Given the description of an element on the screen output the (x, y) to click on. 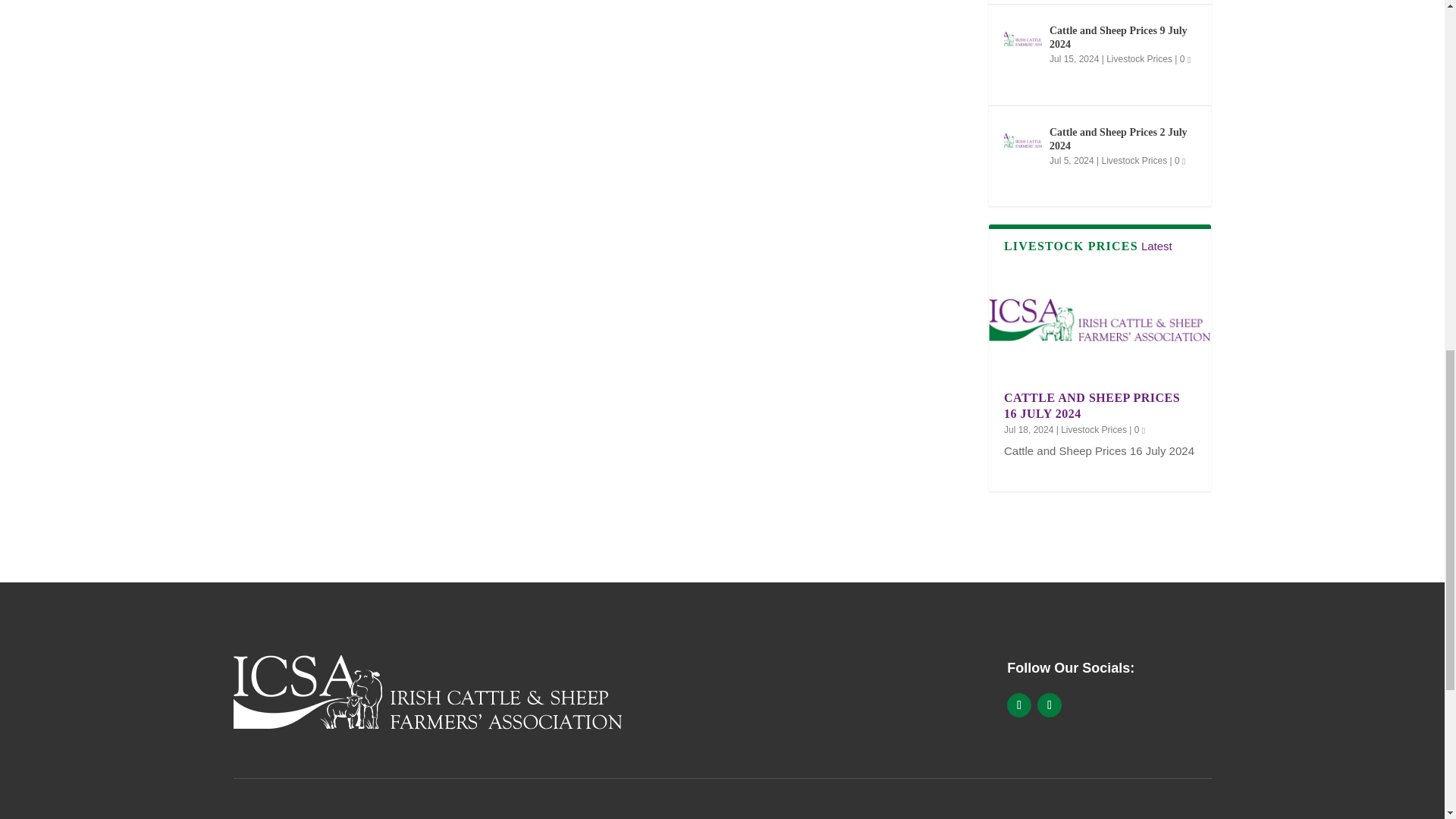
Cattle and Sheep Prices 9 July 2024 (1023, 38)
Cattle and Sheep Prices 2 July 2024 (1023, 139)
